Given the description of an element on the screen output the (x, y) to click on. 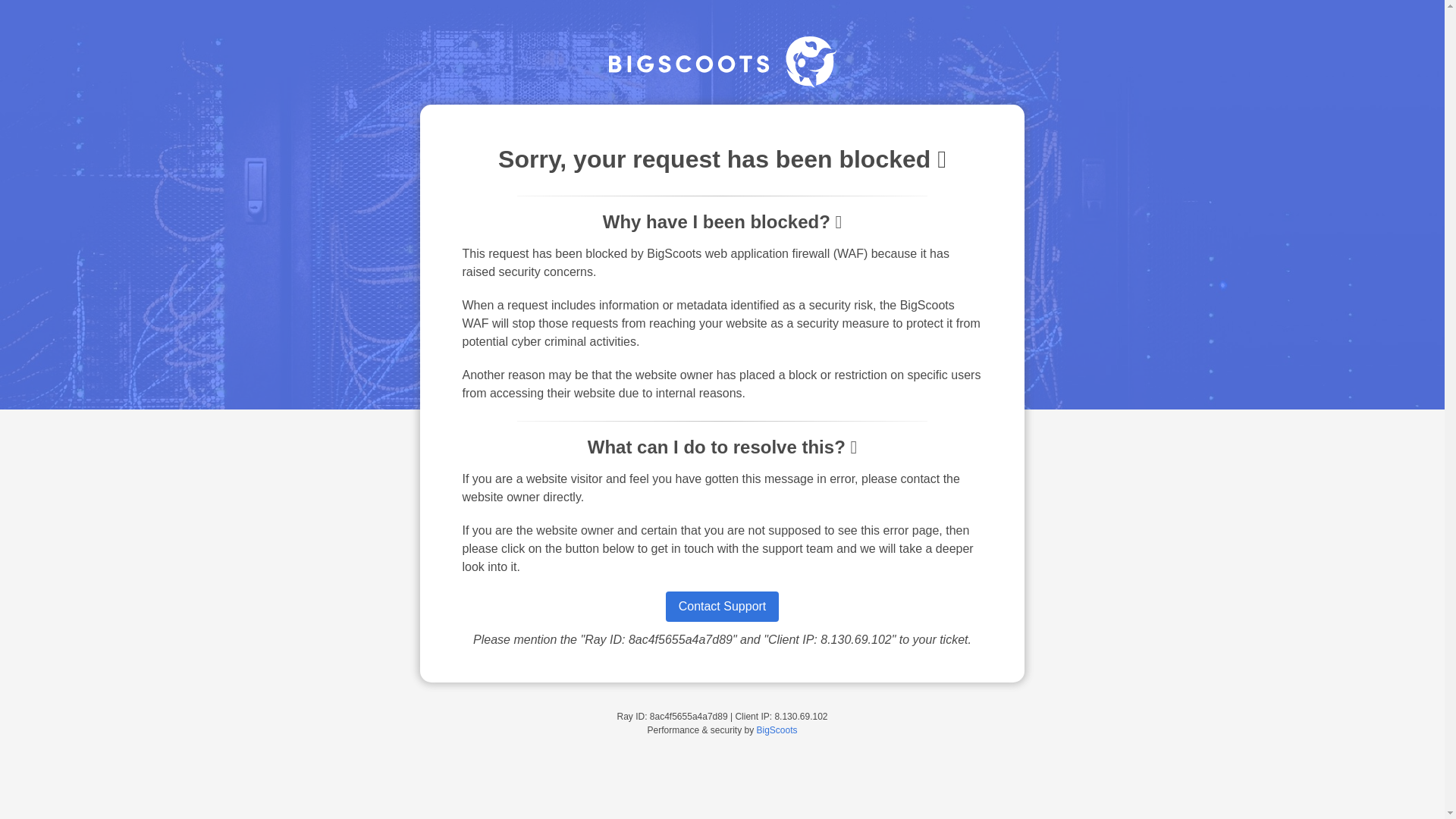
BigScoots (777, 729)
Contact Support (721, 606)
